Given the description of an element on the screen output the (x, y) to click on. 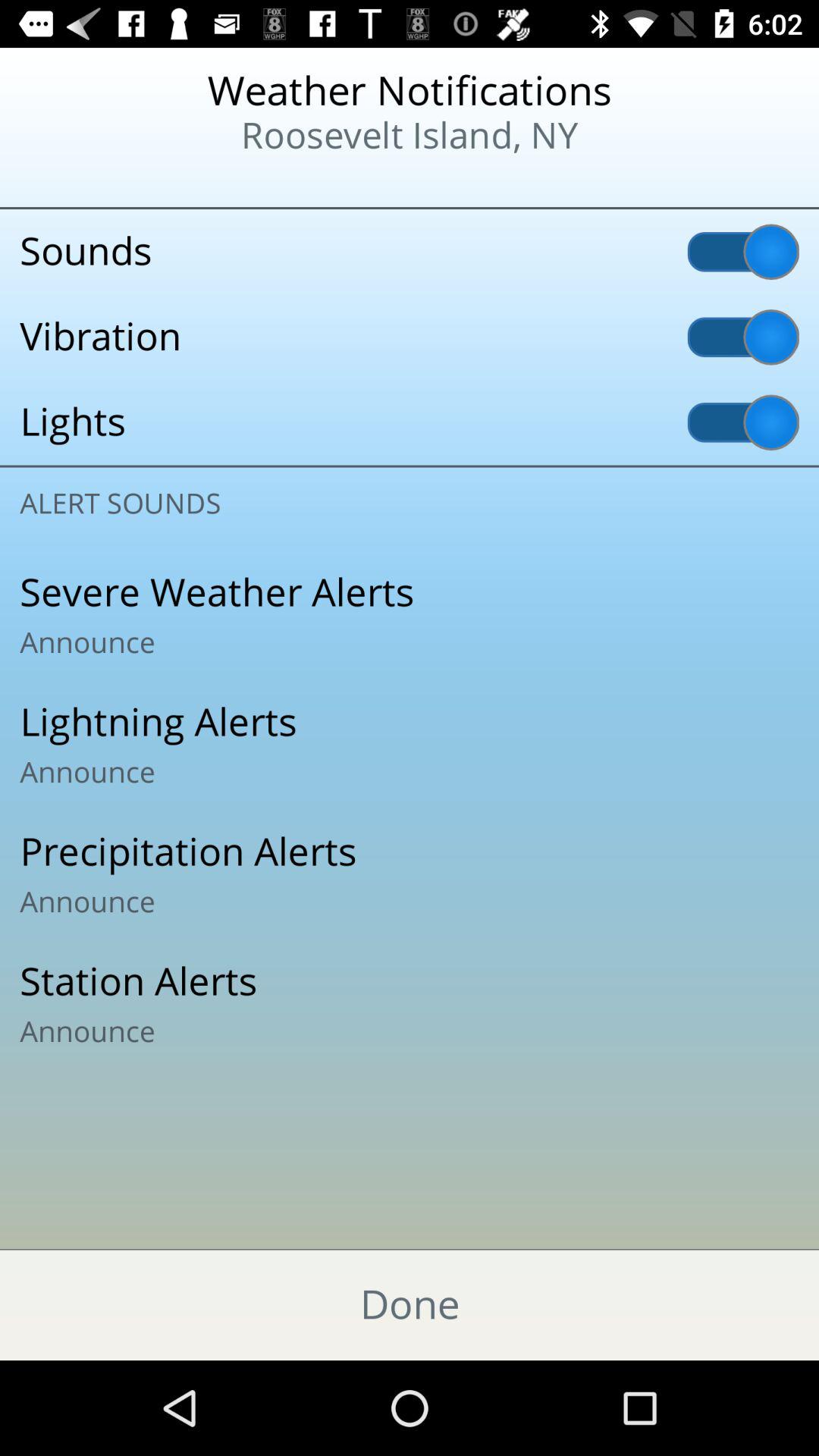
open item at the top left corner (99, 182)
